Given the description of an element on the screen output the (x, y) to click on. 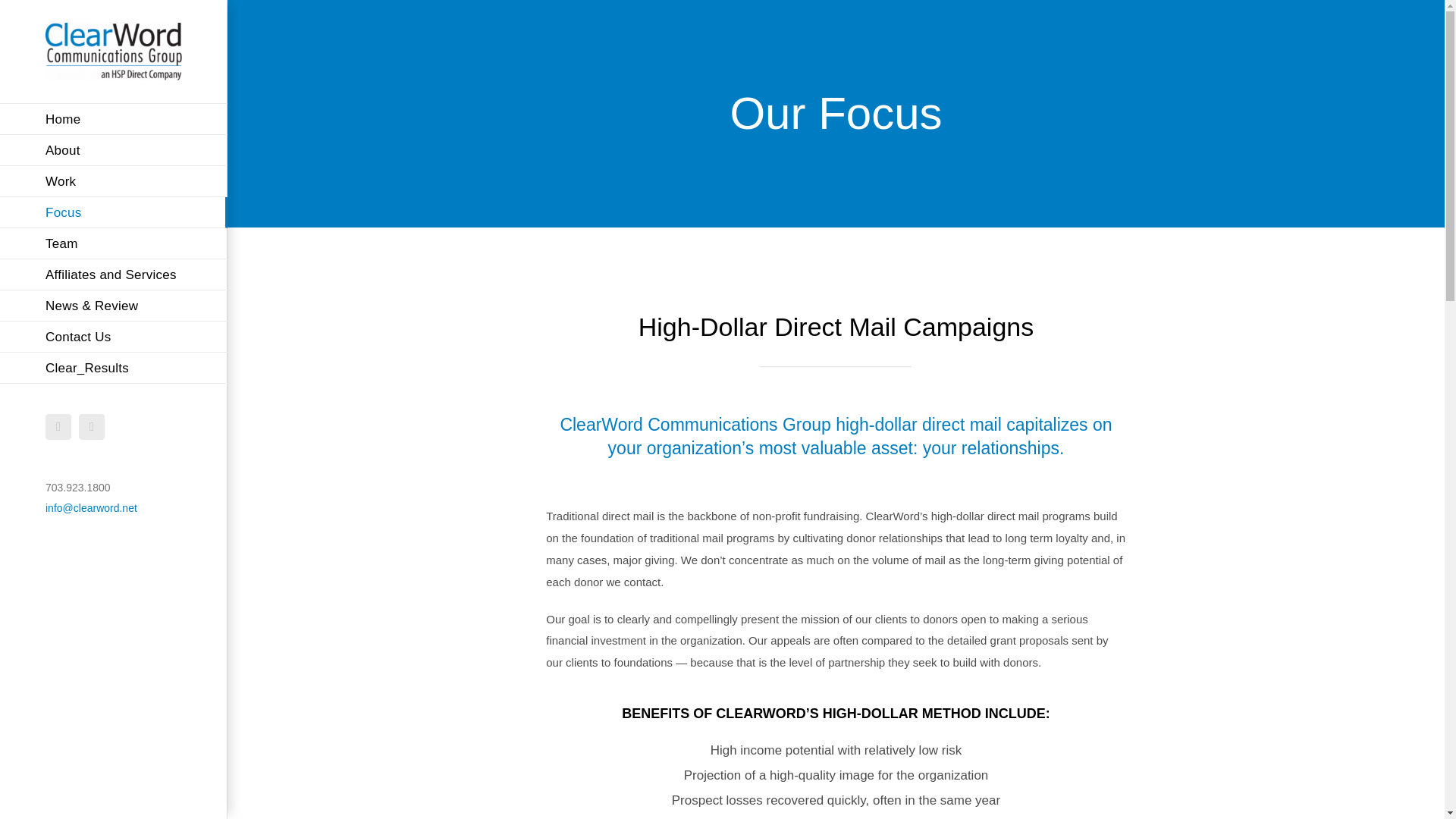
About (113, 150)
Focus (113, 212)
LinkedIn (91, 426)
Team (113, 243)
Facebook (58, 426)
Contact Us (113, 336)
Work (113, 181)
Facebook (58, 426)
Affiliates and Services (113, 274)
LinkedIn (91, 426)
